Given the description of an element on the screen output the (x, y) to click on. 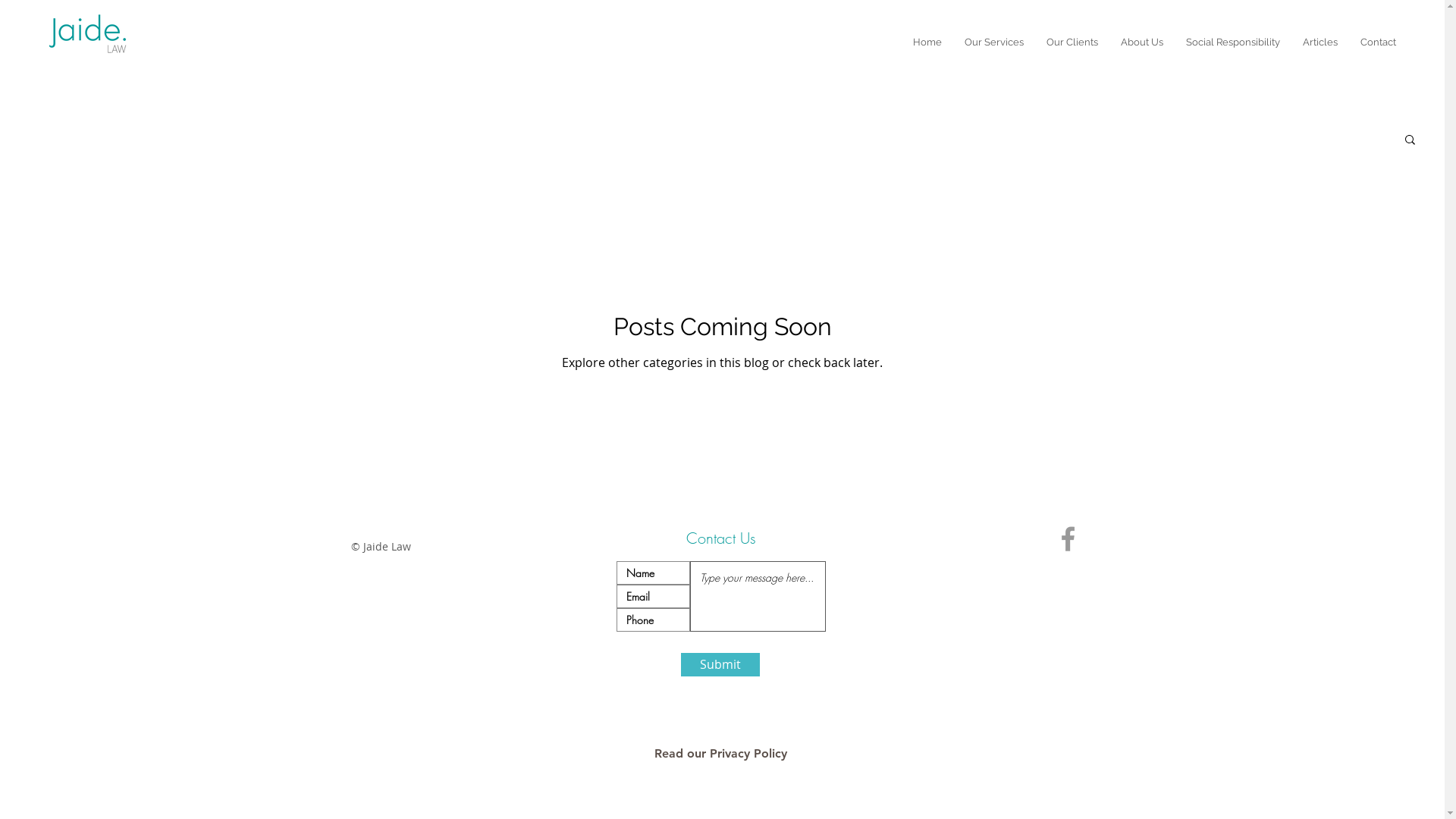
Our Clients Element type: text (1072, 41)
Submit Element type: text (719, 664)
Read our Privacy Policy Element type: text (720, 753)
Home Element type: text (927, 41)
About Us Element type: text (1141, 41)
Social Responsibility Element type: text (1232, 41)
Articles Element type: text (1320, 41)
Our Services Element type: text (994, 41)
Contact Element type: text (1378, 41)
